Given the description of an element on the screen output the (x, y) to click on. 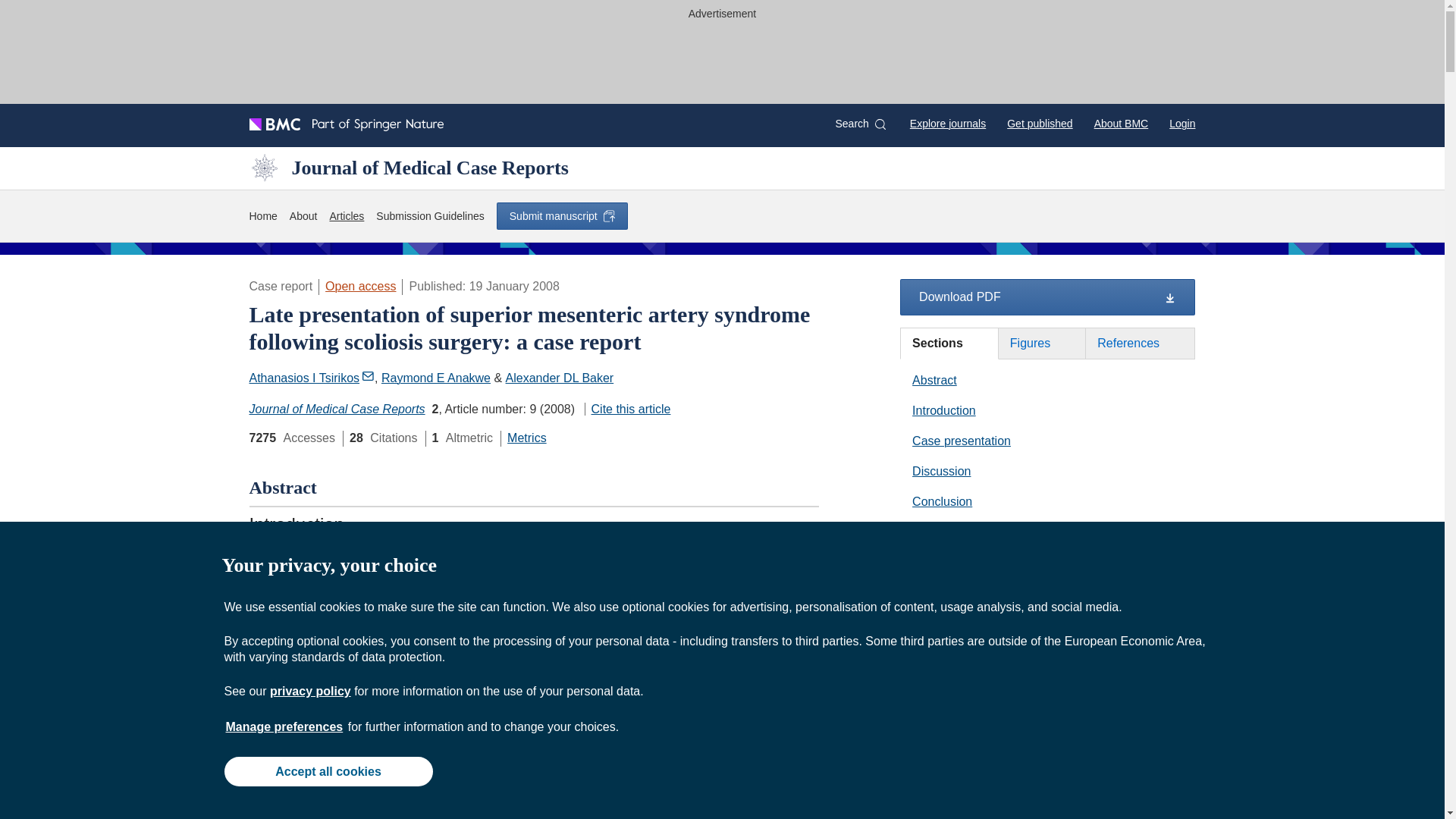
Submit manuscript (561, 216)
Search (859, 123)
Open access (360, 286)
Submission Guidelines (429, 216)
Metrics (526, 437)
Home (262, 216)
Alexander DL Baker (559, 377)
Raymond E Anakwe (435, 377)
About (303, 216)
Explore journals (947, 123)
